Given the description of an element on the screen output the (x, y) to click on. 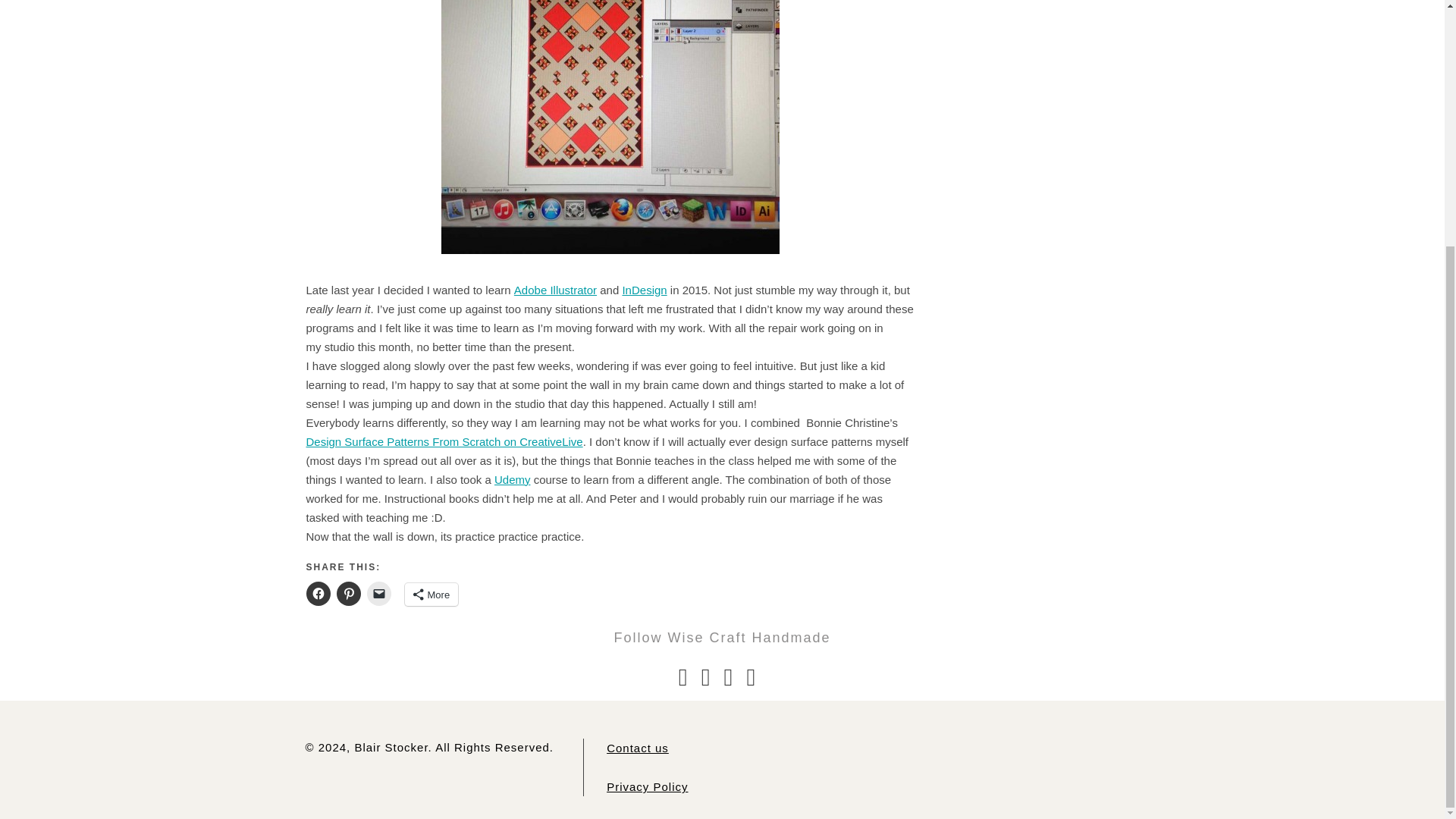
Click to share on Pinterest (348, 593)
Click to share on Facebook (317, 593)
Click to email a link to a friend (378, 593)
